Given the description of an element on the screen output the (x, y) to click on. 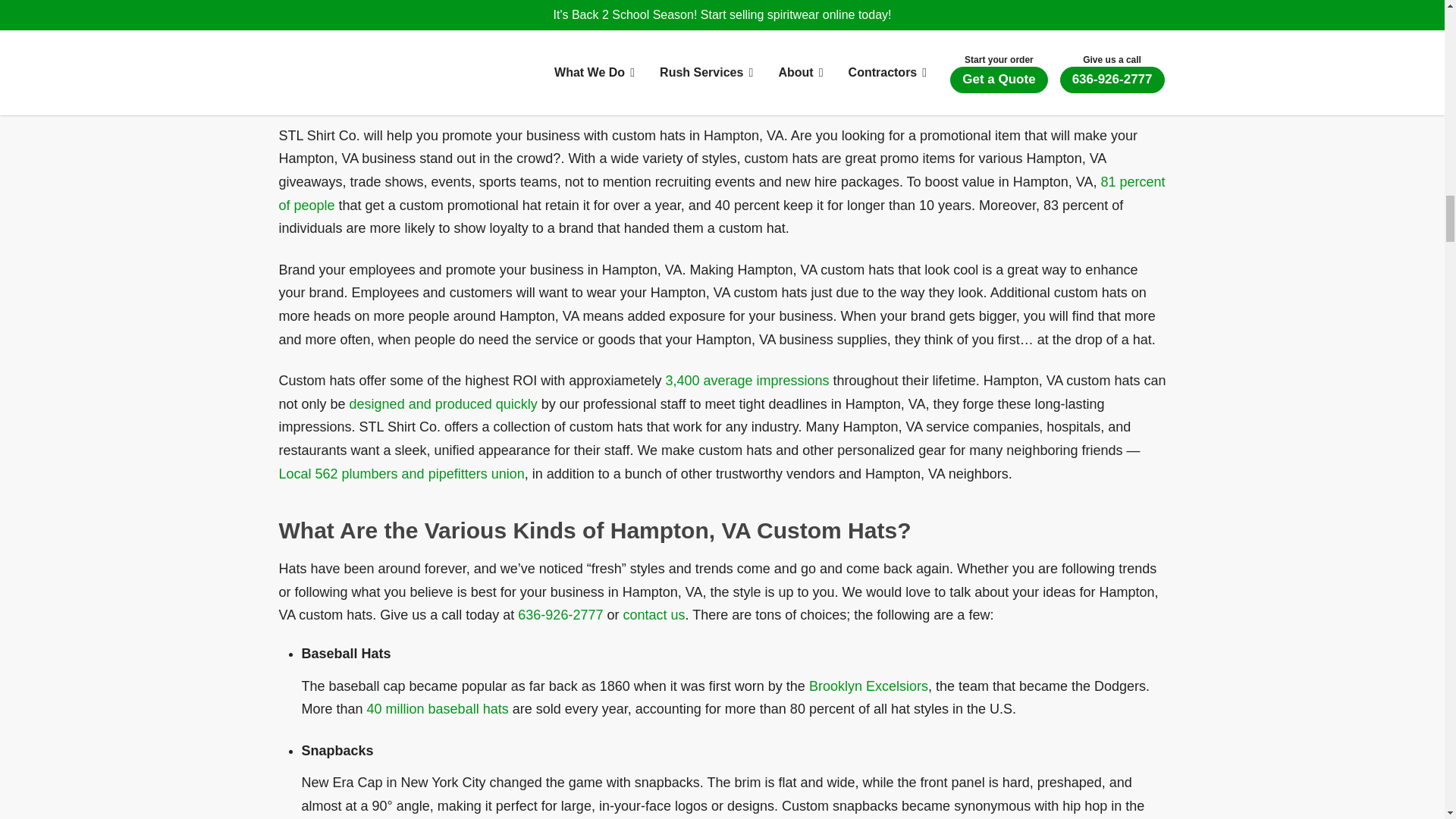
Custom Hats Hampton, VA - Local 562 (401, 473)
Custom Hats Hampton, VA - wikiwand.com (868, 685)
Custom Hats Hampton, VA - asicentral.com (746, 380)
Custom Hats Hampton, VA - totallypromotional.com (722, 193)
Custom Hats Hampton, VA - qualitylogoproducts.com (437, 708)
